Given the description of an element on the screen output the (x, y) to click on. 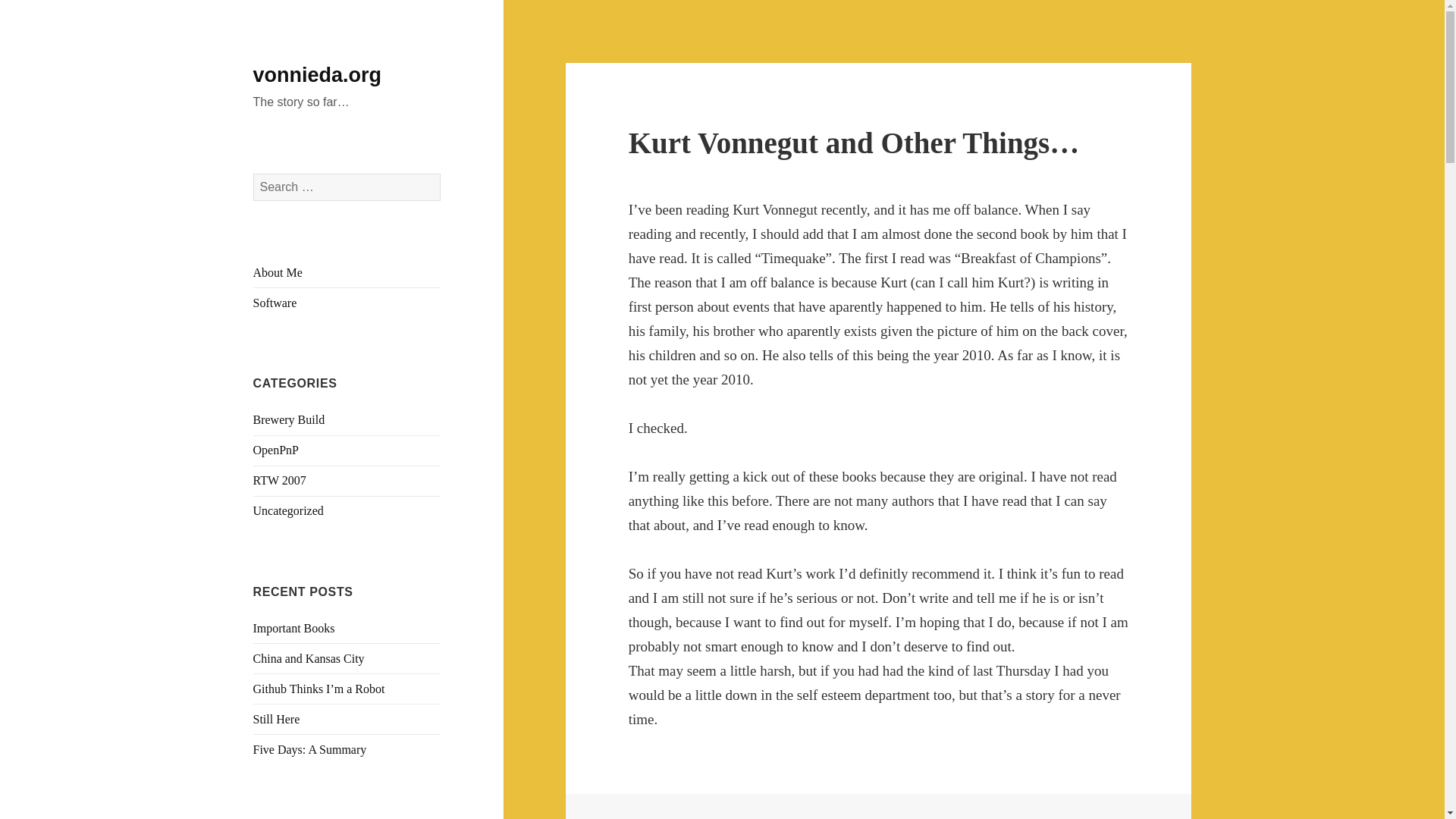
About Me (277, 272)
Software (275, 302)
OpenPnP (275, 449)
Brewery Build (288, 419)
Important Books (293, 627)
RTW 2007 (279, 480)
Still Here (276, 718)
China and Kansas City (309, 658)
vonnieda.org (317, 74)
Five Days: A Summary (309, 748)
Uncategorized (288, 510)
